Given the description of an element on the screen output the (x, y) to click on. 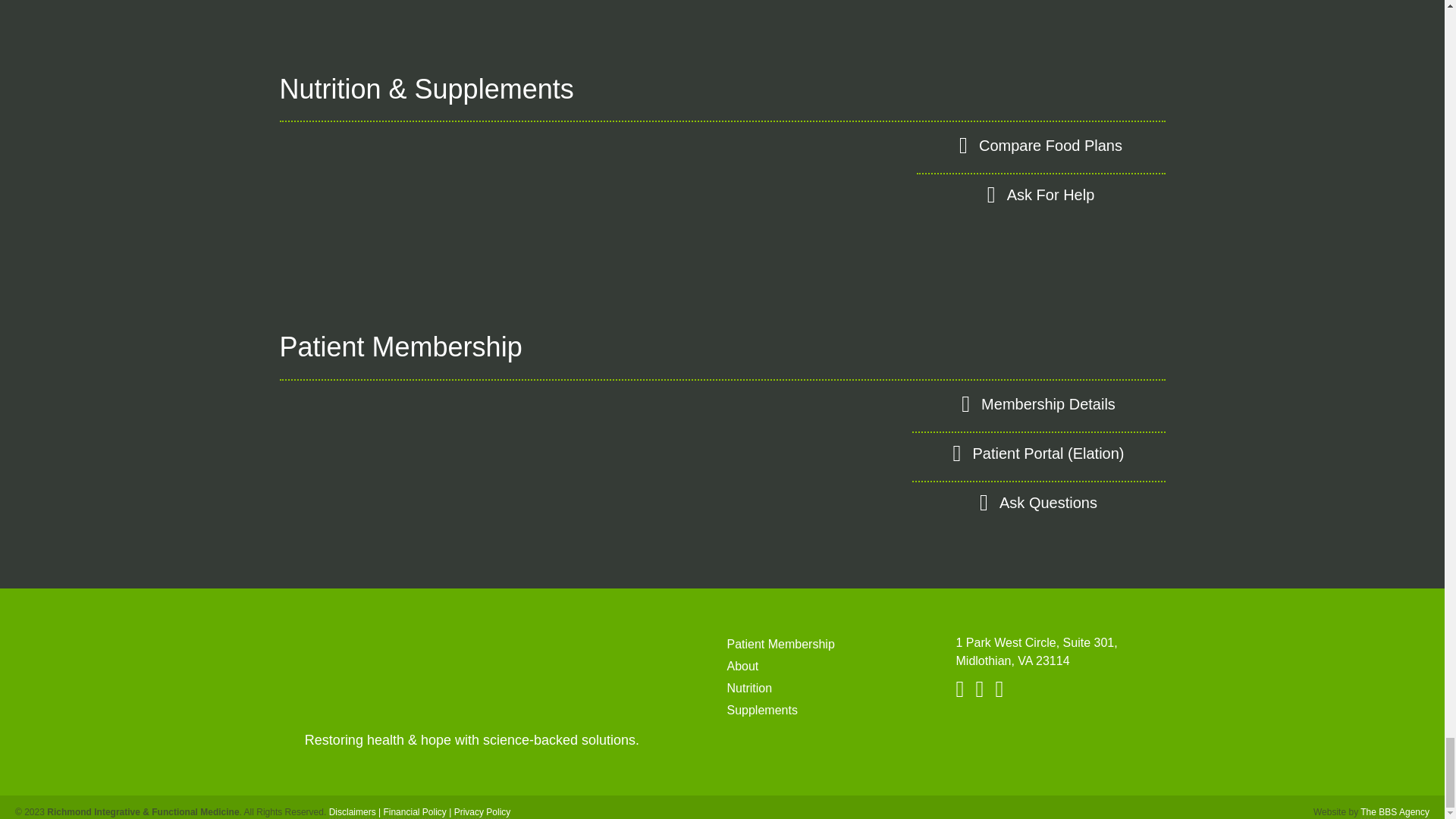
rva-integrative-logo-horizontal (471, 667)
